Given the description of an element on the screen output the (x, y) to click on. 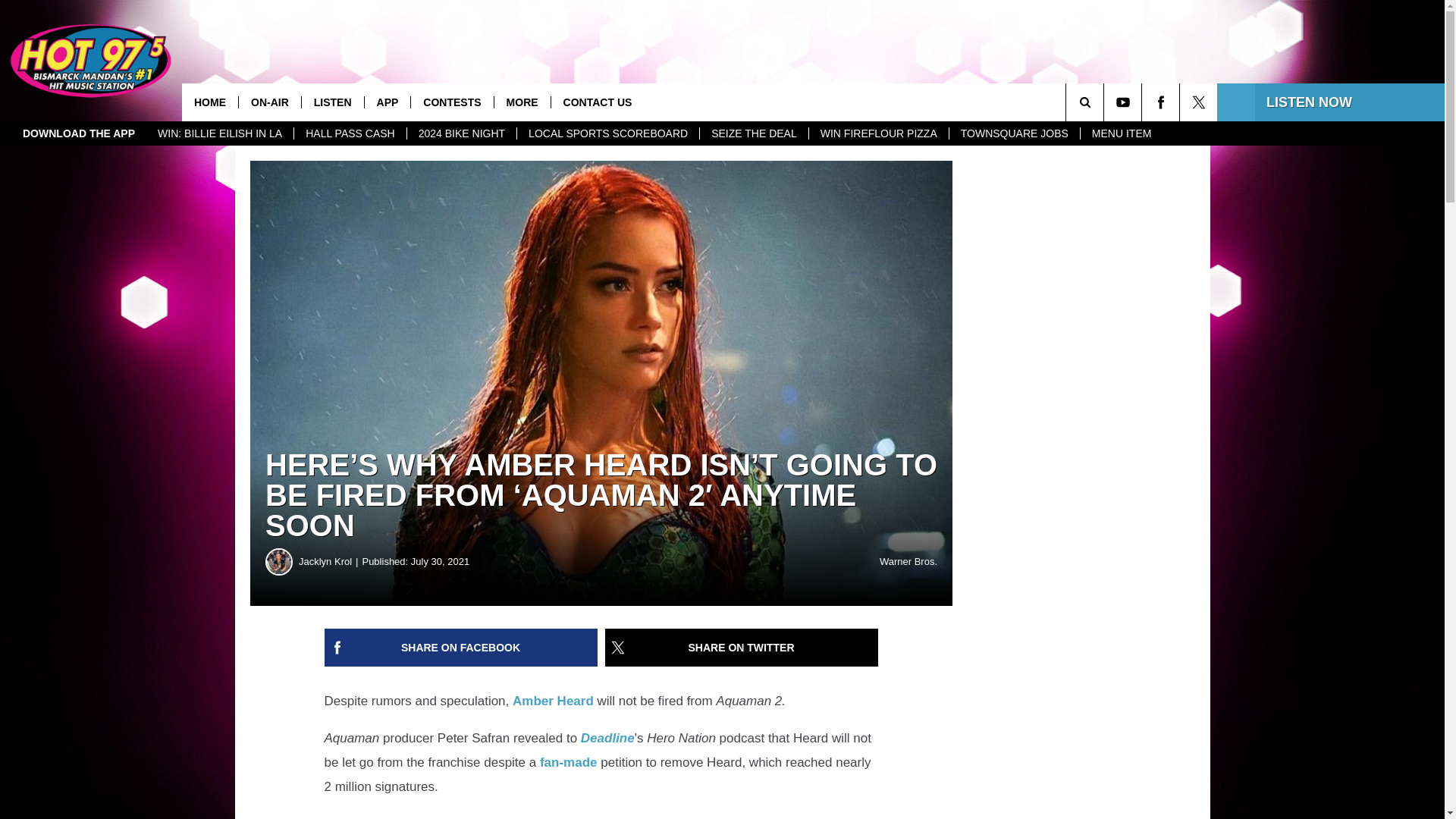
LOCAL SPORTS SCOREBOARD (607, 133)
WIN: BILLIE EILISH IN LA (220, 133)
Share on Facebook (460, 647)
LISTEN (332, 102)
SEARCH (1106, 102)
SEARCH (1106, 102)
DOWNLOAD THE APP (79, 133)
TOWNSQUARE JOBS (1014, 133)
2024 BIKE NIGHT (461, 133)
MORE (521, 102)
